Given the description of an element on the screen output the (x, y) to click on. 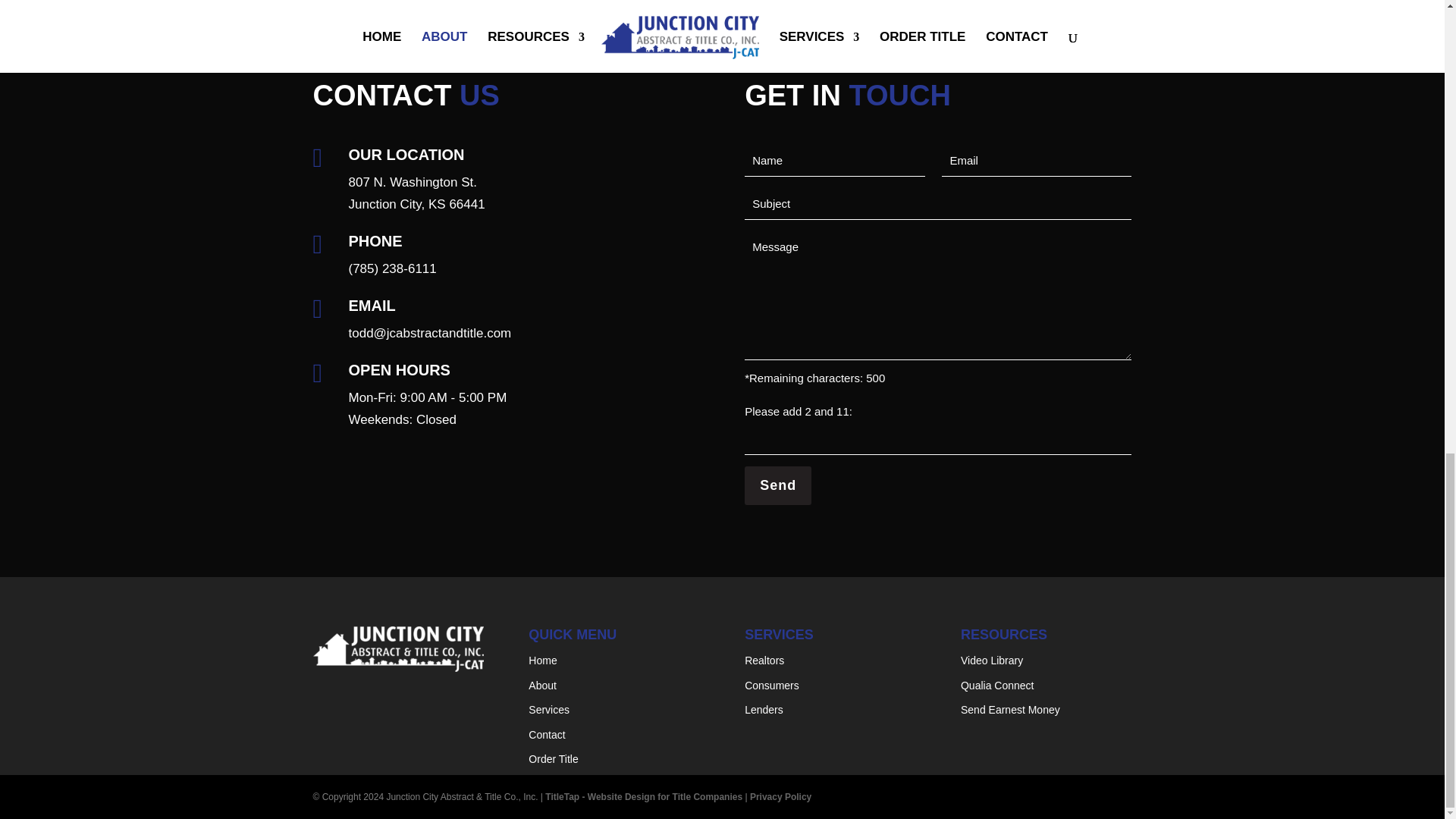
Send (777, 485)
Home (542, 660)
Realtors (764, 660)
Privacy Policy (779, 796)
Order Title (553, 758)
Consumers (771, 685)
Contact (546, 734)
Video Library (991, 660)
About (542, 685)
Email Us (416, 193)
Lenders (430, 332)
Google Maps (763, 709)
Call Us (416, 193)
Send (392, 268)
